Given the description of an element on the screen output the (x, y) to click on. 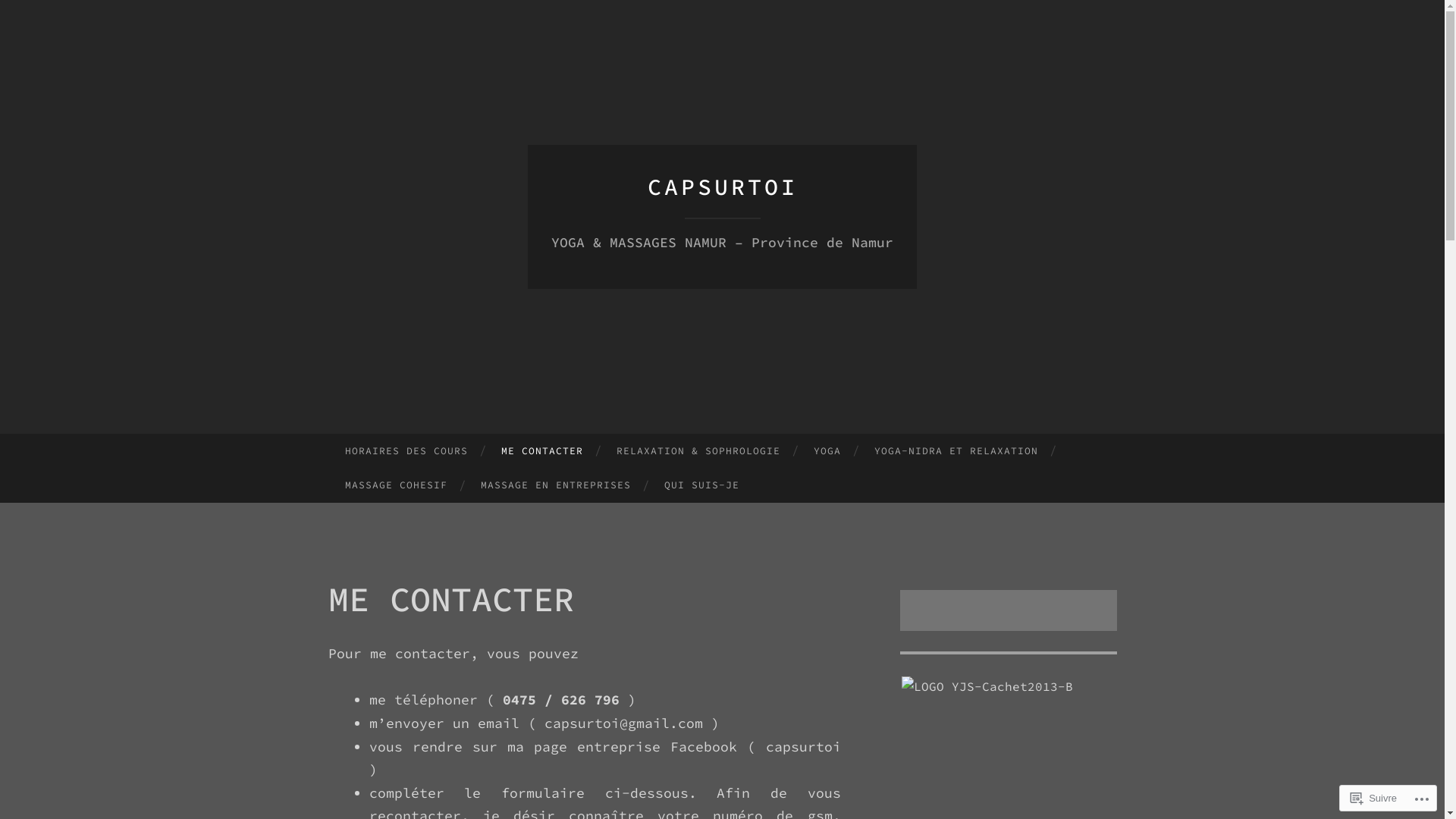
YOGA-NIDRA ET RELAXATION Element type: text (955, 450)
Suivre Element type: text (1373, 797)
ME CONTACTER Element type: text (541, 450)
MASSAGE EN ENTREPRISES Element type: text (555, 484)
YOGA Element type: text (827, 450)
HORAIRES DES COURS Element type: text (405, 450)
MASSAGE COHESIF Element type: text (395, 484)
QUI SUIS-JE Element type: text (701, 484)
RELAXATION & SOPHROLOGIE Element type: text (698, 450)
LOGO YJS-Cachet2013-B Element type: hover (986, 686)
CAPSURTOI Element type: text (722, 186)
